Given the description of an element on the screen output the (x, y) to click on. 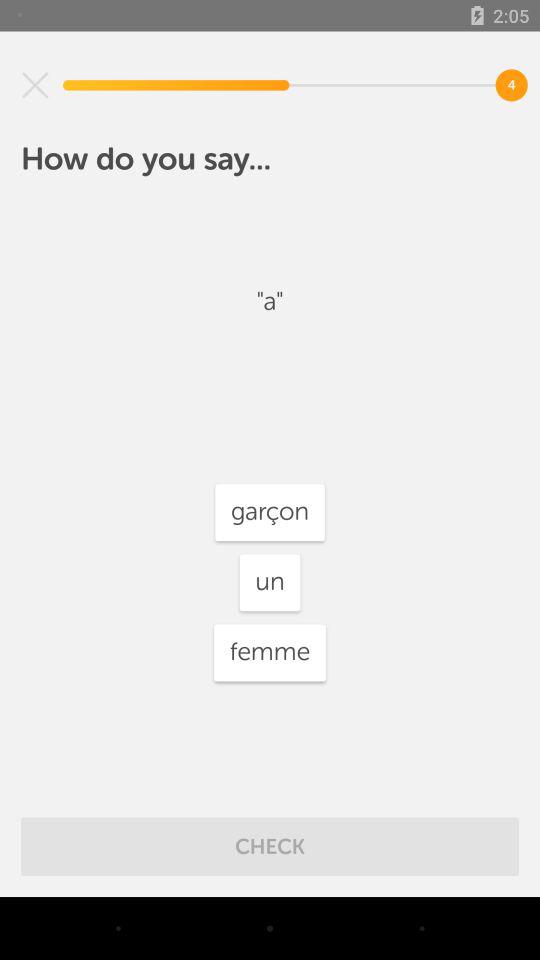
launch the icon below the "a" (269, 512)
